Given the description of an element on the screen output the (x, y) to click on. 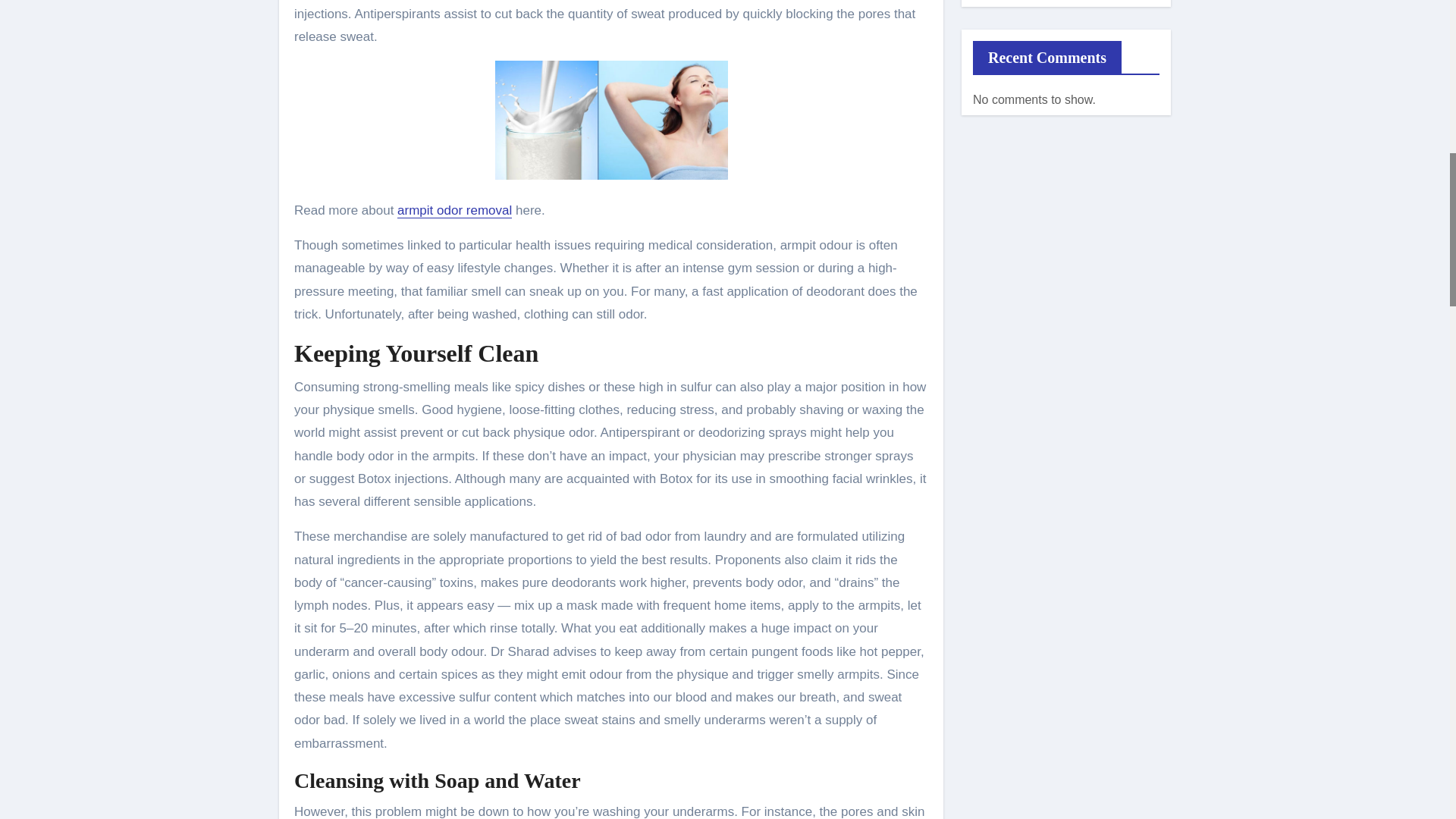
armpit odor removal (454, 210)
